Given the description of an element on the screen output the (x, y) to click on. 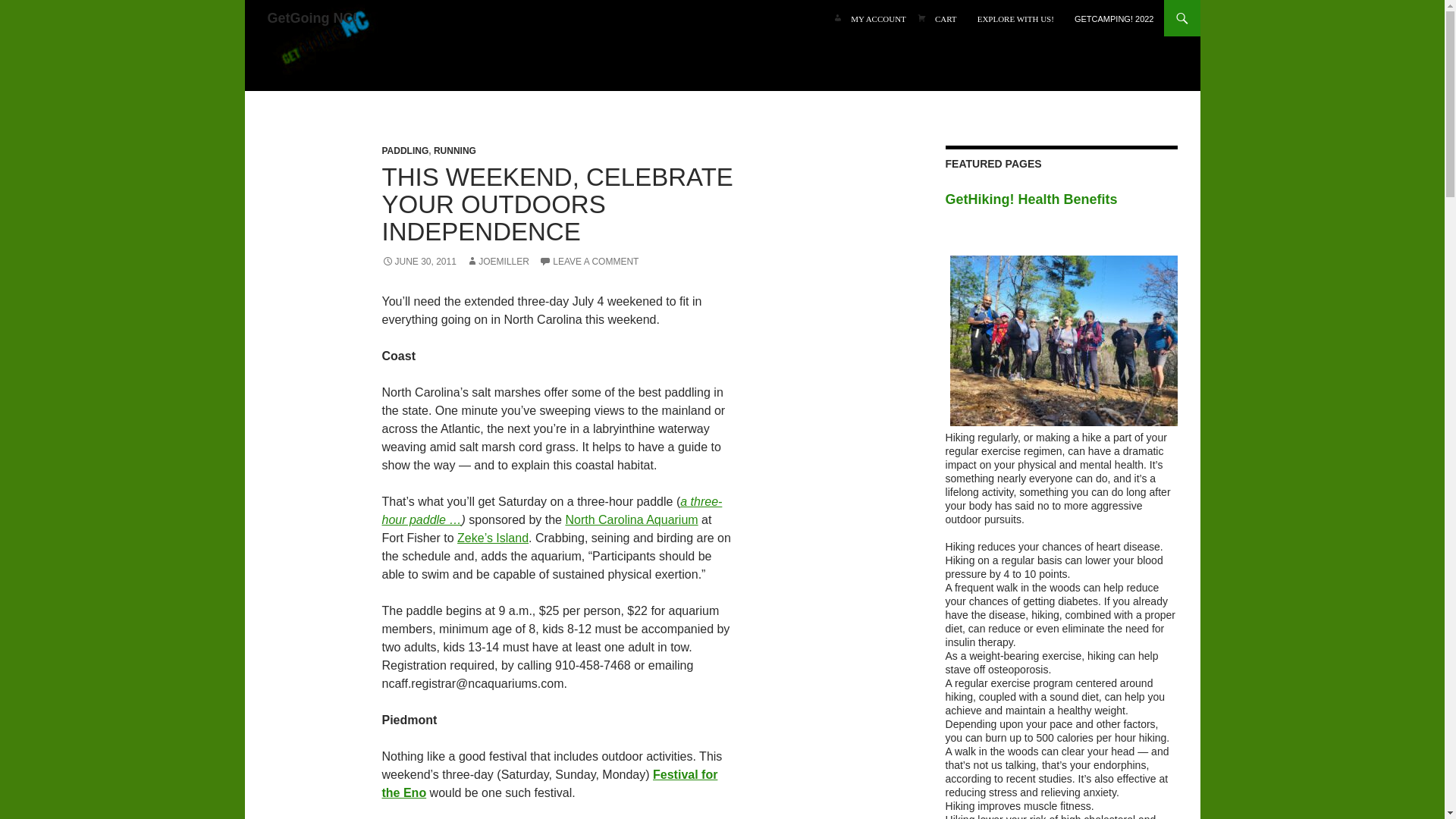
GetHiking! Health Benefits (1060, 199)
Visit Cart (946, 18)
JUNE 30, 2011 (419, 261)
LEAVE A COMMENT (588, 261)
RUNNING (454, 150)
GetGoing NC! (323, 45)
Festival for the Eno (549, 783)
Login (878, 18)
MY ACCOUNT (878, 18)
